Given the description of an element on the screen output the (x, y) to click on. 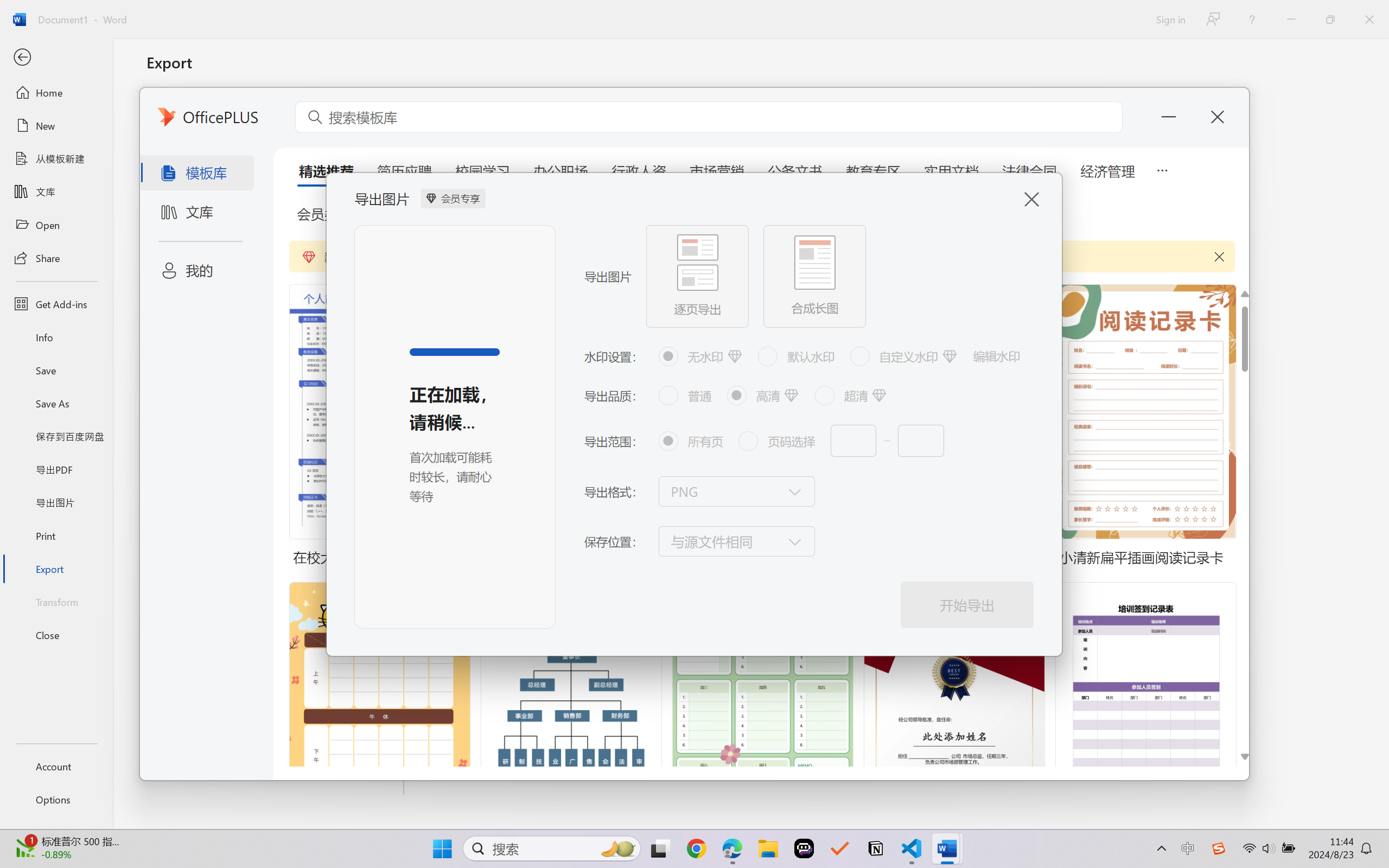
Print (56, 535)
